Given the description of an element on the screen output the (x, y) to click on. 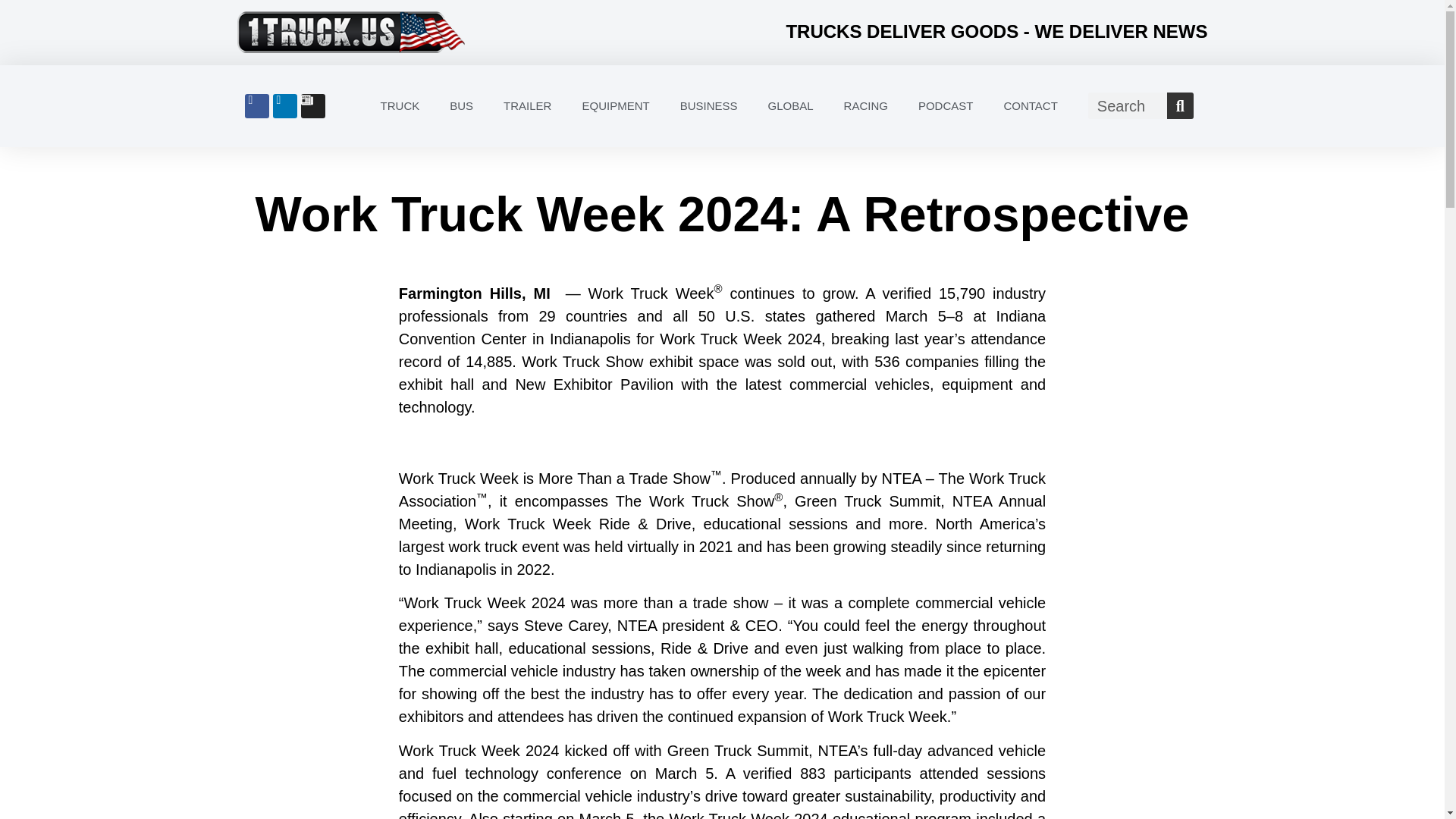
EQUIPMENT (614, 105)
CONTACT (1029, 105)
GLOBAL (790, 105)
BUSINESS (708, 105)
PODCAST (945, 105)
TRUCK (400, 105)
RACING (865, 105)
TRAILER (526, 105)
